Given the description of an element on the screen output the (x, y) to click on. 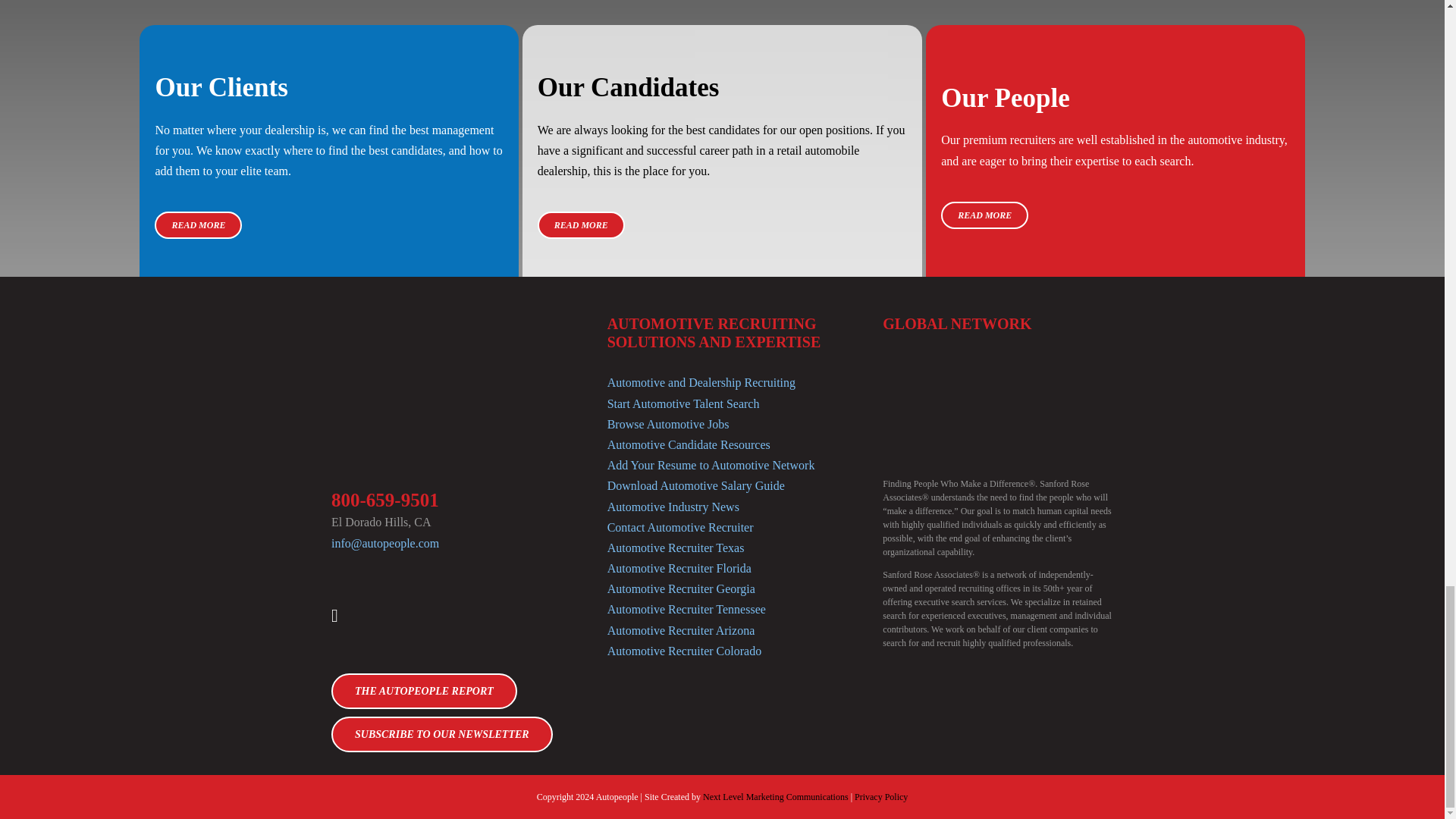
READ MORE (580, 225)
READ MORE (197, 225)
READ MORE (983, 215)
